Given the description of an element on the screen output the (x, y) to click on. 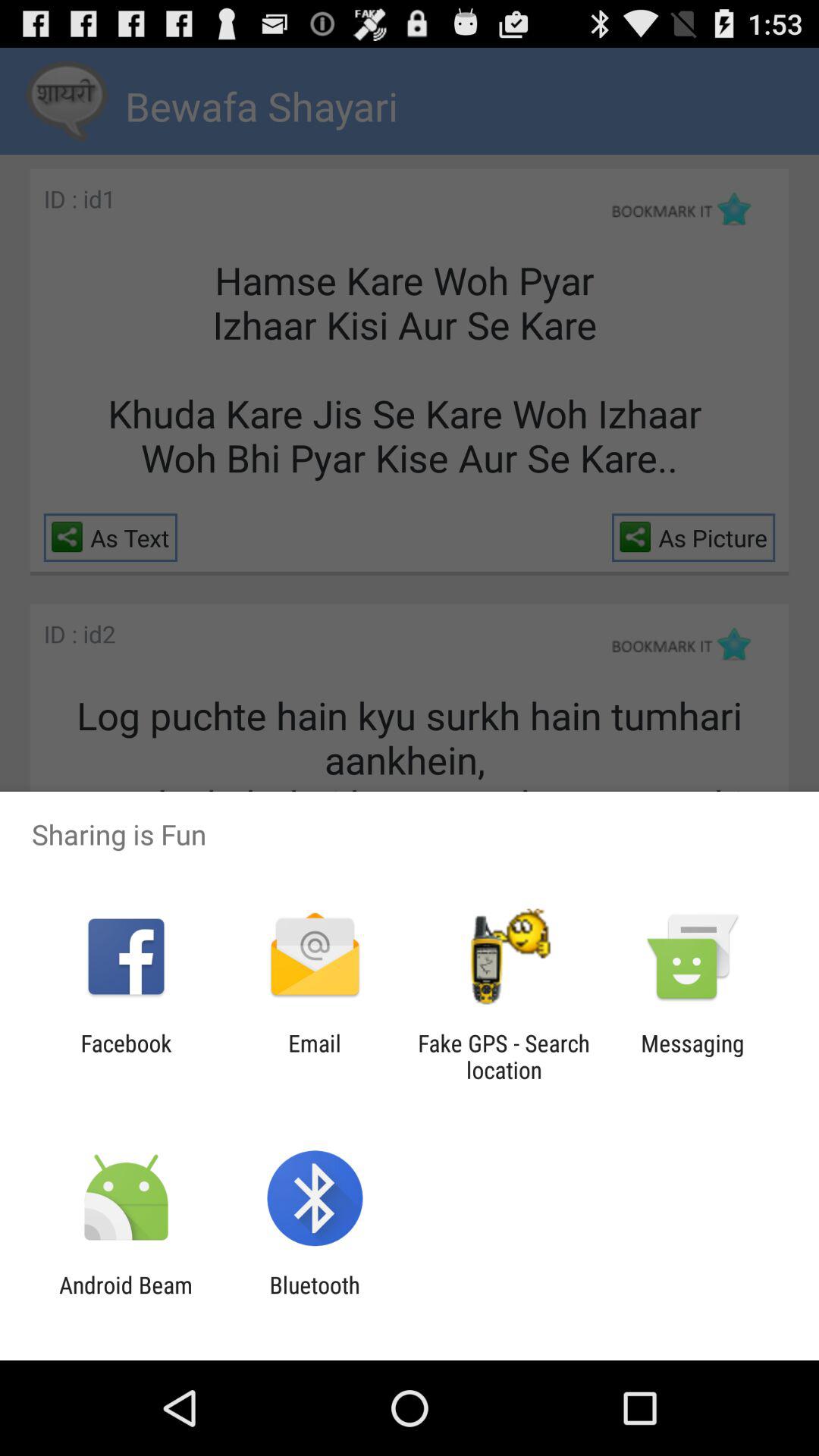
turn off email item (314, 1056)
